Given the description of an element on the screen output the (x, y) to click on. 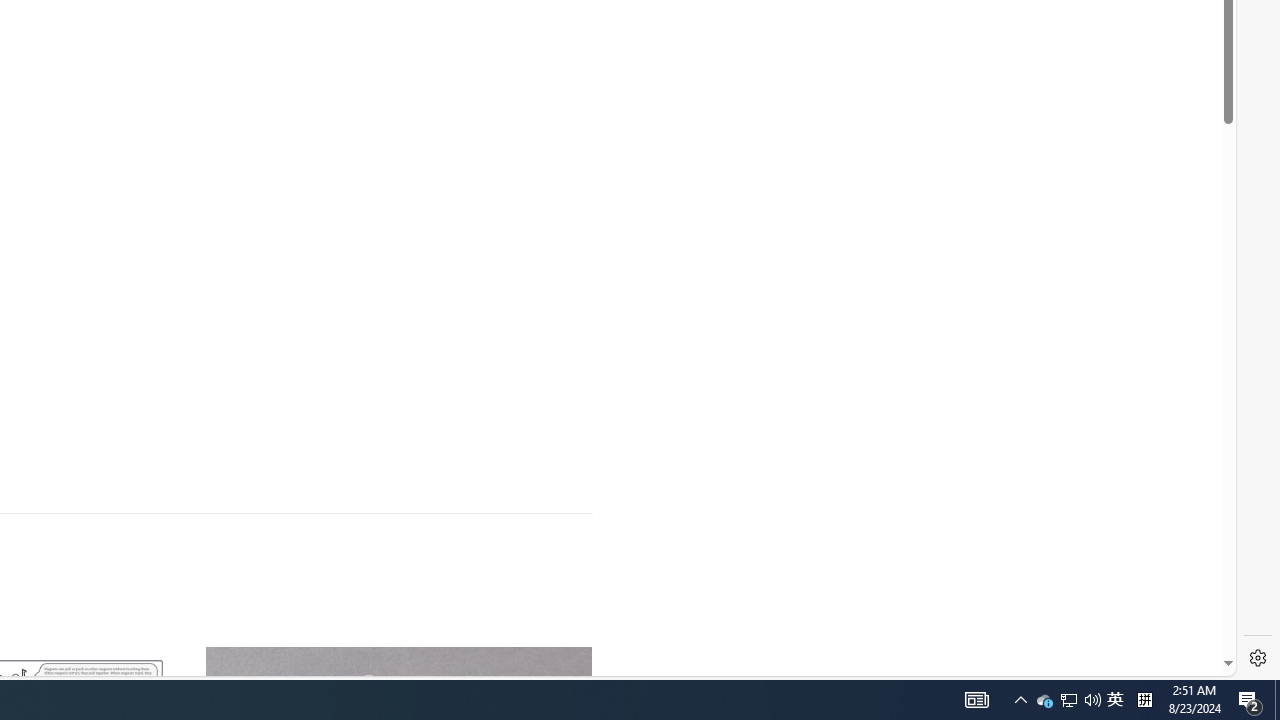
Settings (1258, 658)
